Given the description of an element on the screen output the (x, y) to click on. 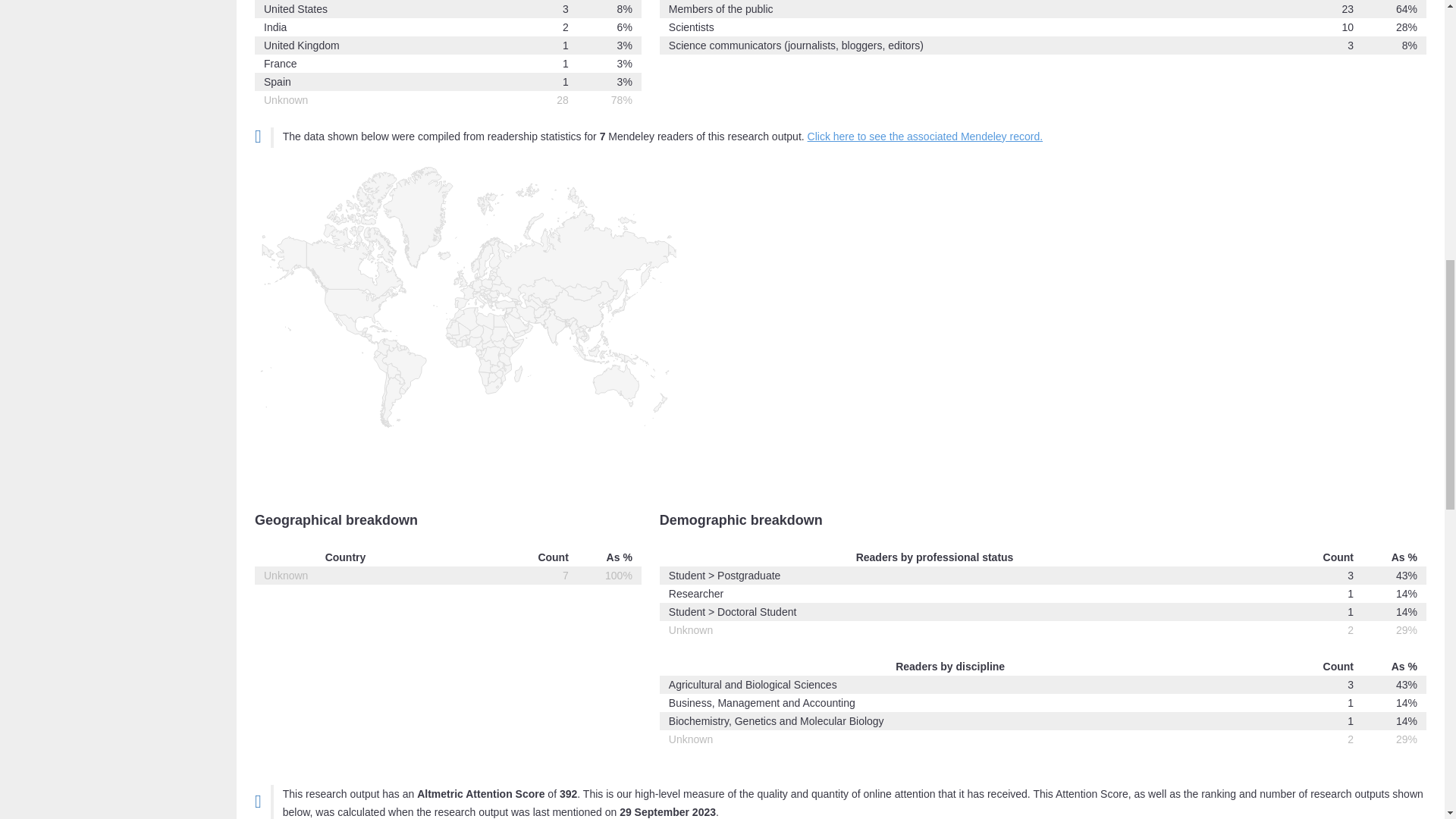
Click here to see the associated Mendeley record. (925, 136)
